Given the description of an element on the screen output the (x, y) to click on. 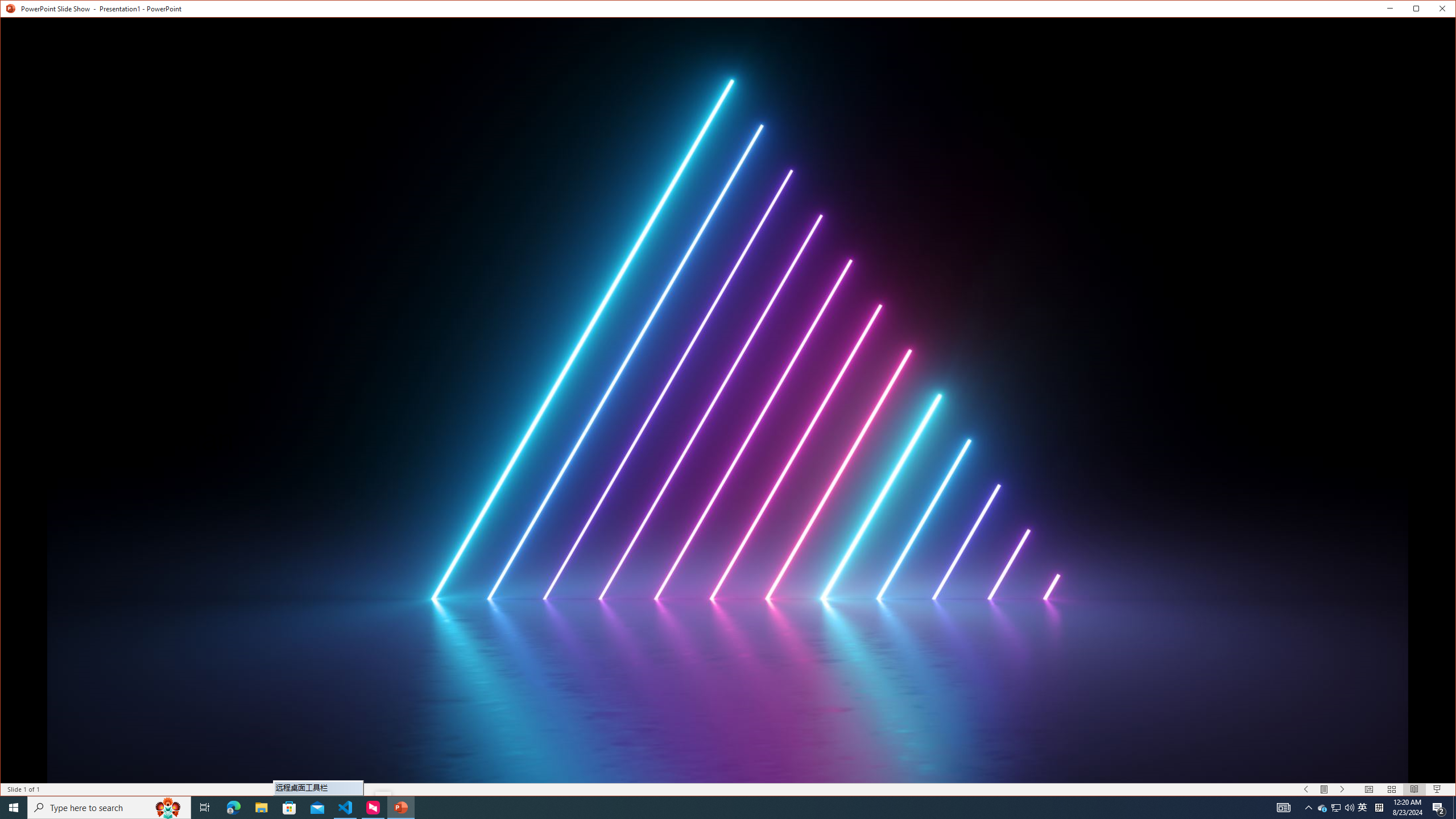
Minimize (1419, 11)
Type here to search (108, 807)
Notification Chevron (1308, 807)
Normal (1368, 789)
File Explorer (261, 807)
Slide Show (1436, 789)
Q2790: 100% (1349, 807)
Running applications (700, 807)
Menu On (1324, 789)
User Promoted Notification Area (1336, 807)
Task View (204, 807)
Reading View (1414, 789)
Search highlights icon opens search home window (167, 807)
Close (1444, 11)
